Given the description of an element on the screen output the (x, y) to click on. 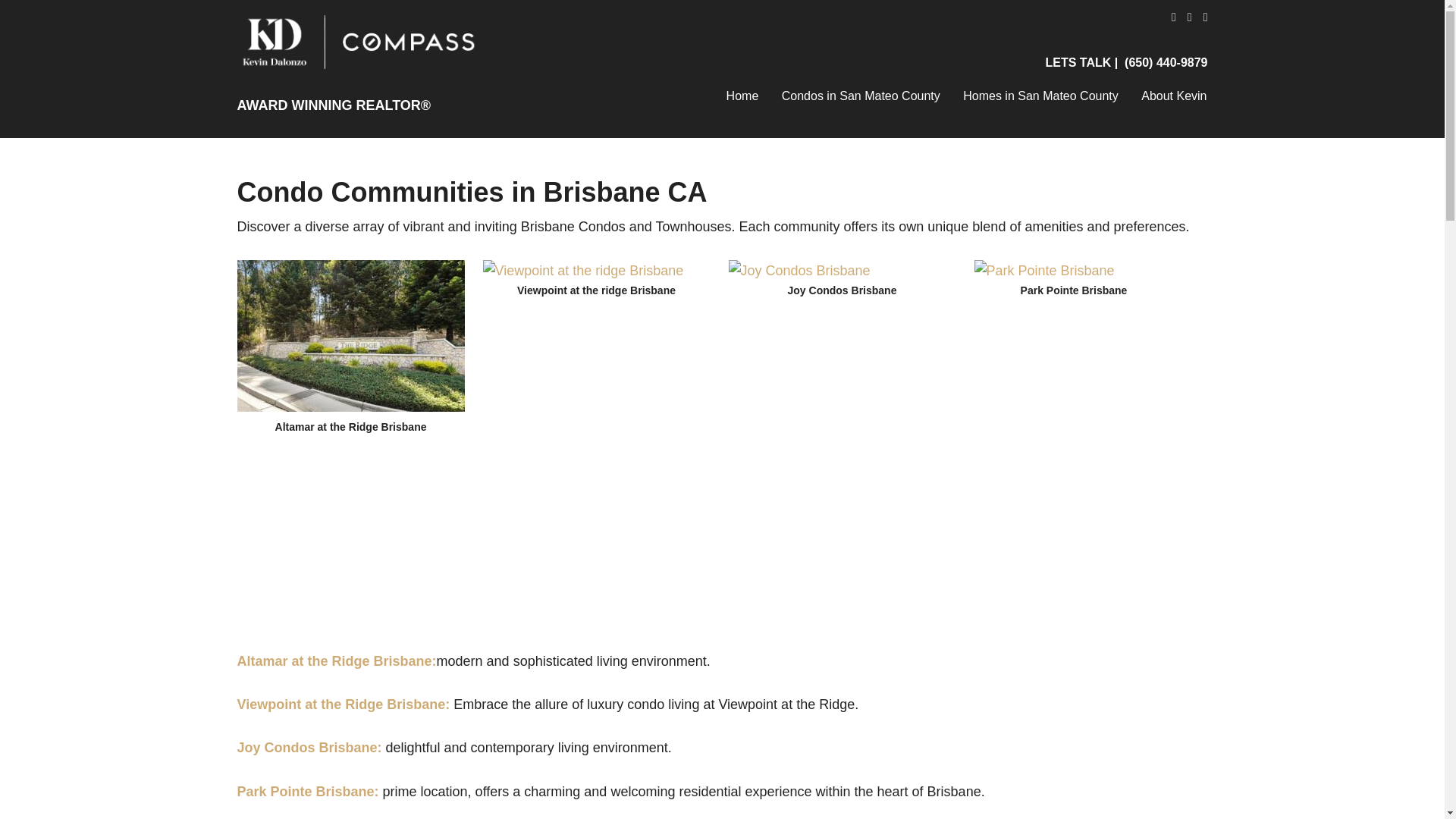
Joy Condos Brisbane (798, 270)
Altamar at the Ridge Brisbane: (335, 661)
Joy Condos Brisbane: (308, 747)
Park Pointe Brisbane (1043, 270)
Home (742, 92)
Condos in San Mateo County (861, 92)
About Kevin (1169, 92)
Homes in San Mateo County (1040, 92)
Viewpoint at the Ridge Brisbane: (342, 703)
Park Pointe Brisbane: (308, 791)
